Given the description of an element on the screen output the (x, y) to click on. 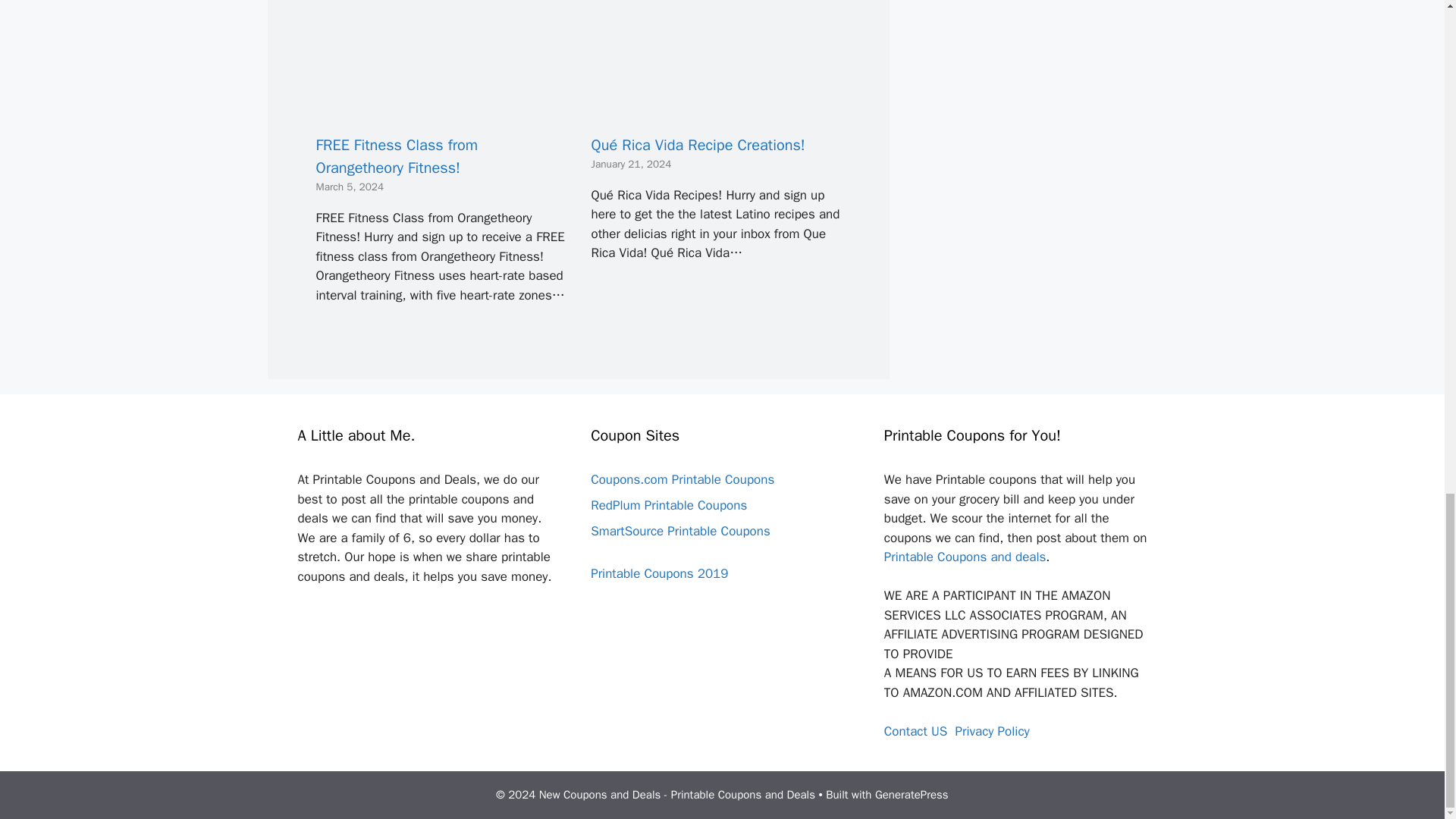
3:50 PM (631, 164)
FREE Fitness Class from Orangetheory Fitness! (440, 111)
2:50 PM (349, 186)
